Given the description of an element on the screen output the (x, y) to click on. 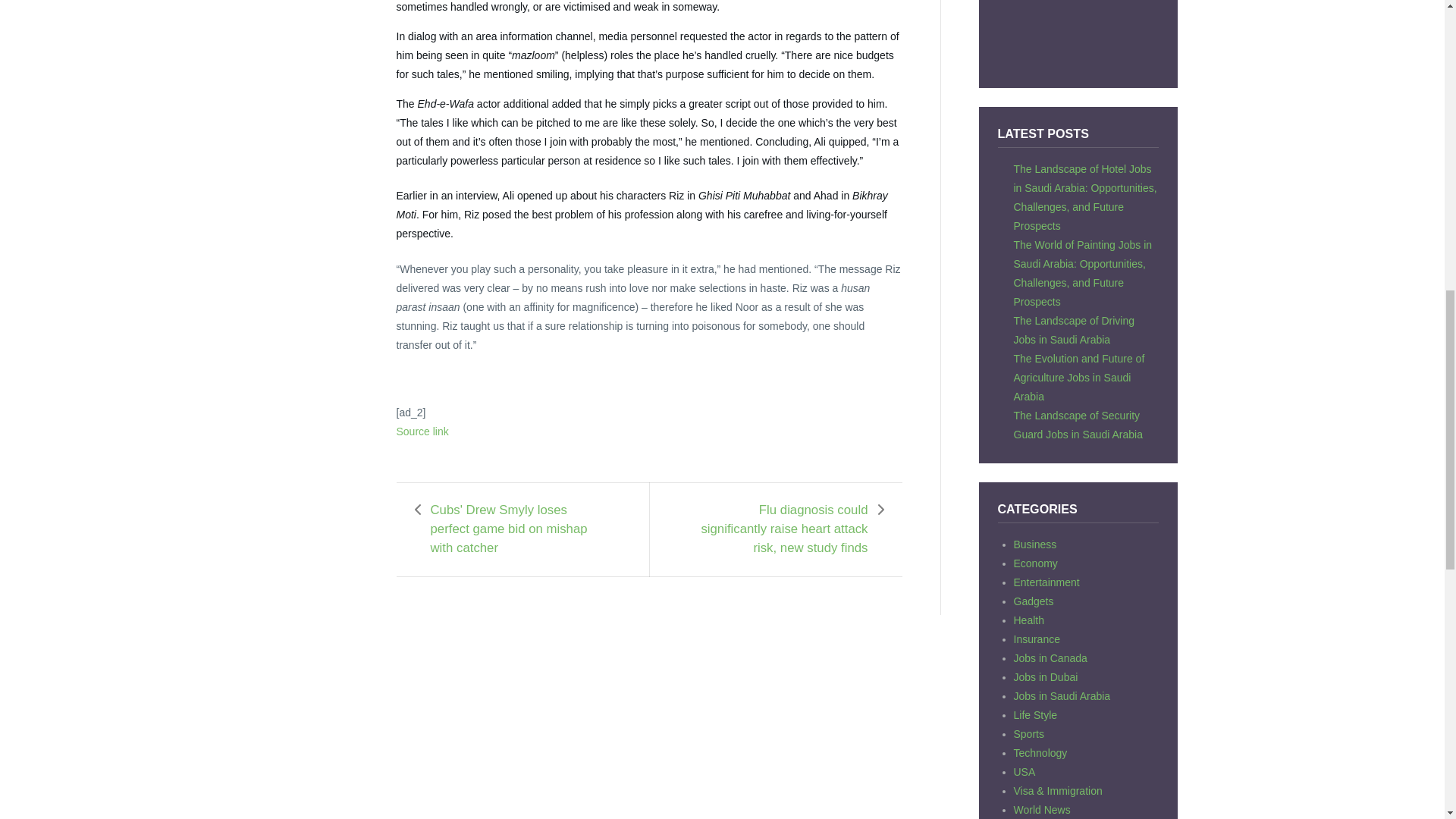
Source link (422, 431)
The Landscape of Security Guard Jobs in Saudi Arabia (1077, 424)
Insurance (1036, 639)
Advertisement (1077, 34)
Economy (1035, 563)
The Evolution and Future of Agriculture Jobs in Saudi Arabia (1078, 377)
Jobs in Saudi Arabia (1061, 695)
Health (1028, 620)
Gadgets (1032, 601)
Previous (517, 529)
Next (780, 529)
Jobs in Canada (1049, 657)
